Given the description of an element on the screen output the (x, y) to click on. 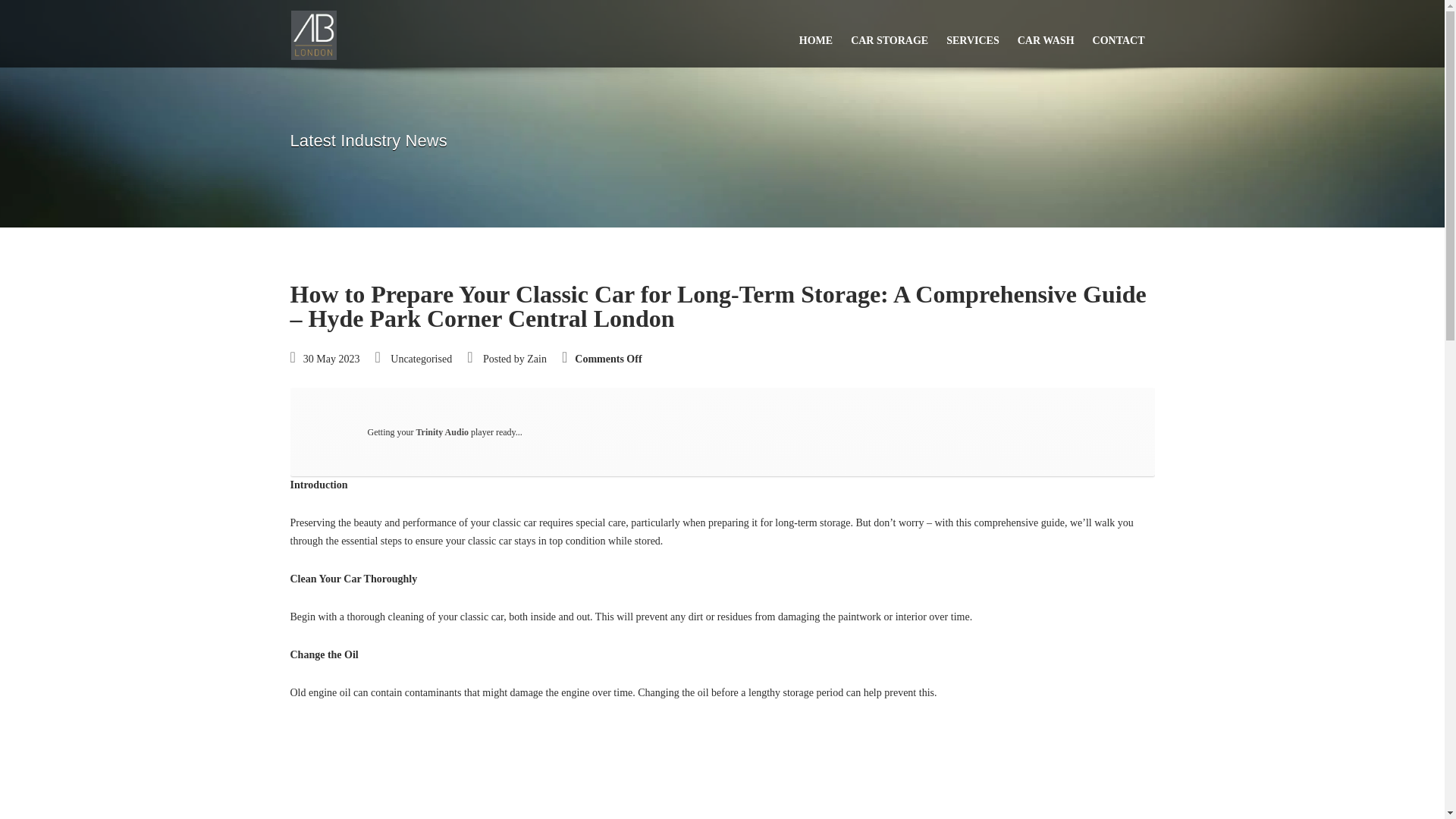
CAR STORAGE (889, 33)
Posts by Zain (537, 358)
SERVICES (973, 33)
Uncategorised (420, 358)
Trinity Audio (440, 431)
CAR WASH (1046, 33)
Zain (537, 358)
CONTACT (1118, 33)
